Given the description of an element on the screen output the (x, y) to click on. 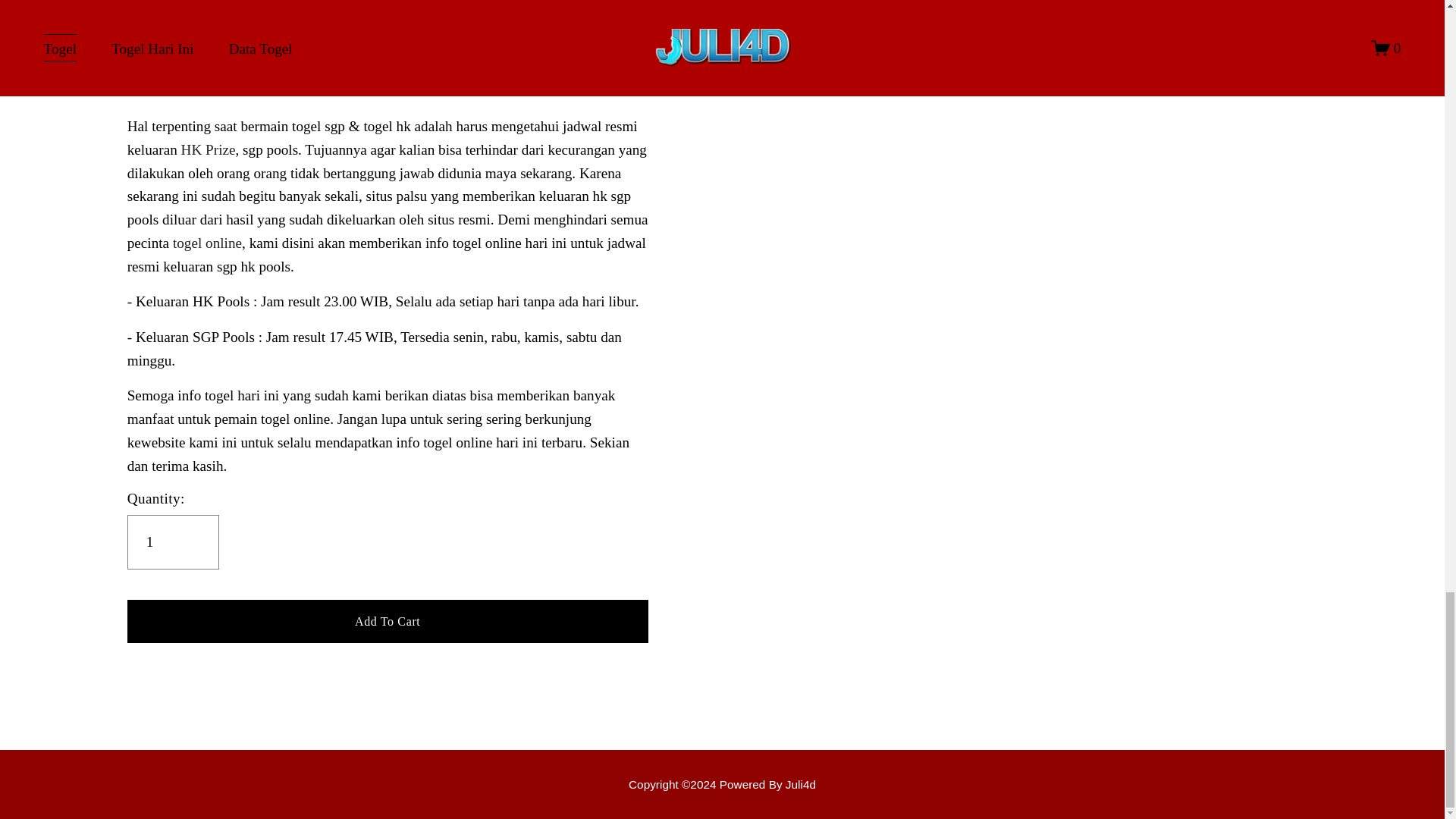
togel online (207, 242)
HK Prize (207, 149)
Add To Cart (387, 620)
Keluaran HK (721, 784)
1 (173, 542)
